Given the description of an element on the screen output the (x, y) to click on. 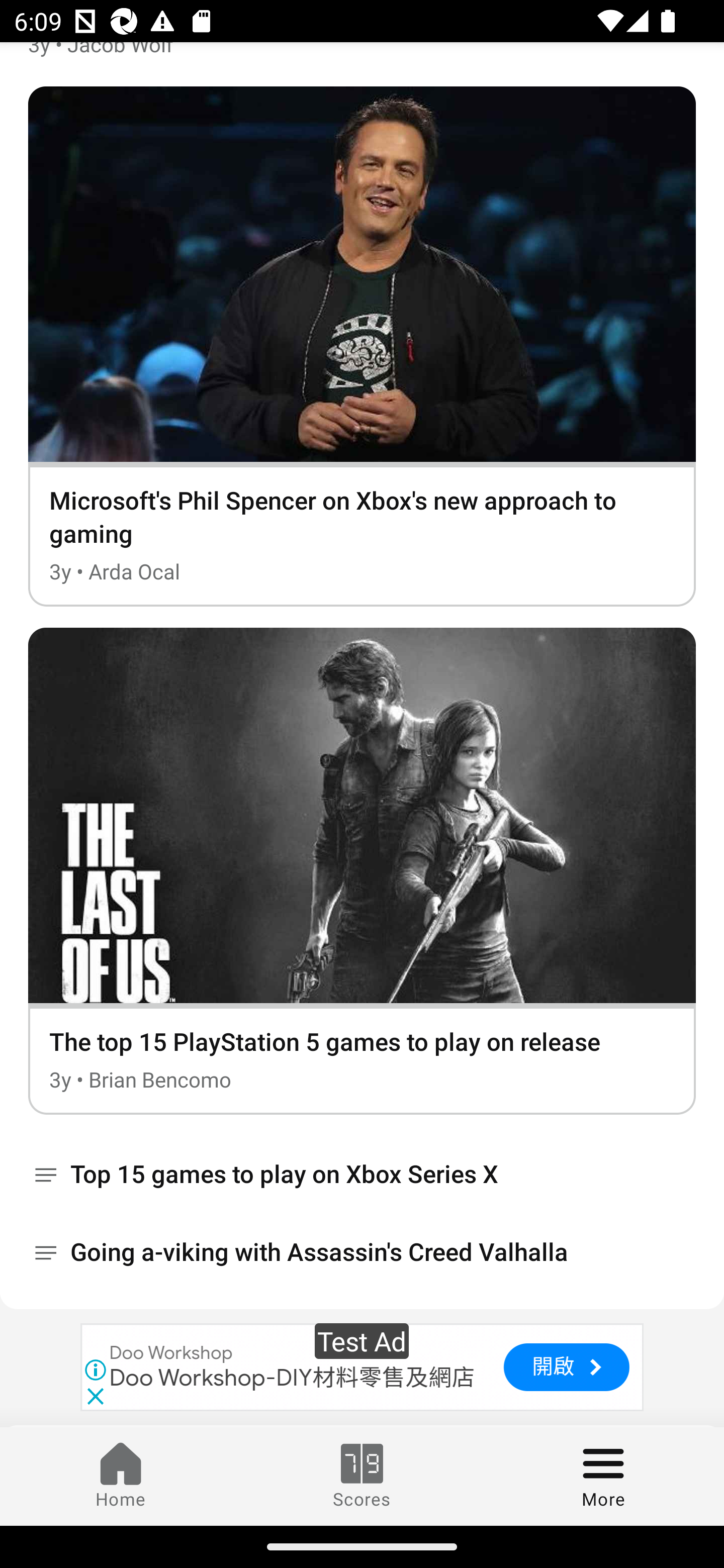
 Top 15 games to play on Xbox Series X (362, 1174)
 Going a-viking with Assassin's Creed Valhalla (362, 1252)
Home (120, 1475)
Scores (361, 1475)
